Given the description of an element on the screen output the (x, y) to click on. 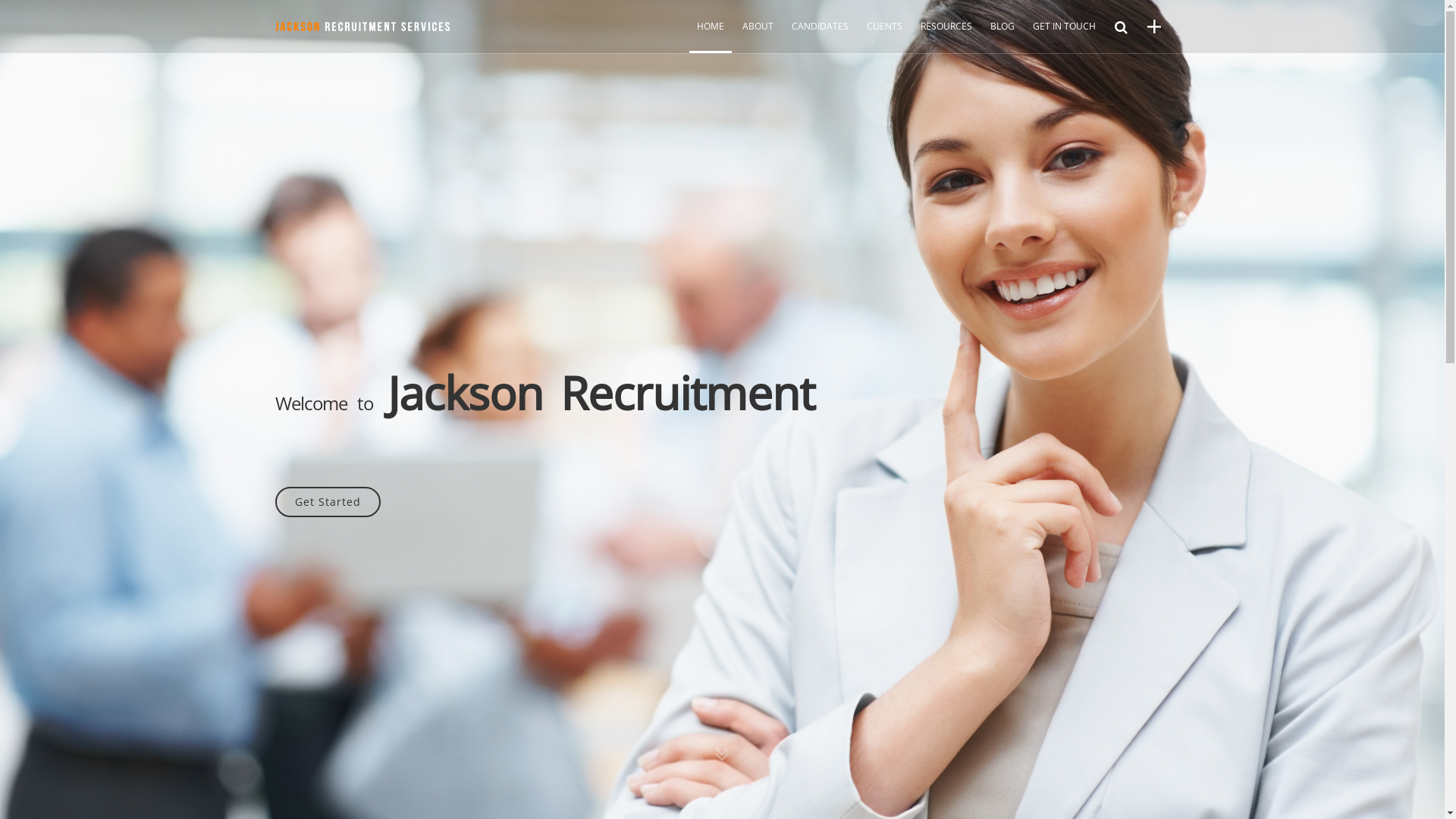
HOME Element type: text (709, 34)
GET IN TOUCH Element type: text (1064, 34)
CLIENTS Element type: text (883, 34)
BLOG Element type: text (1002, 34)
CANDIDATES Element type: text (820, 34)
Get Started Element type: text (326, 501)
ABOUT Element type: text (757, 34)
RESOURCES Element type: text (946, 34)
